Given the description of an element on the screen output the (x, y) to click on. 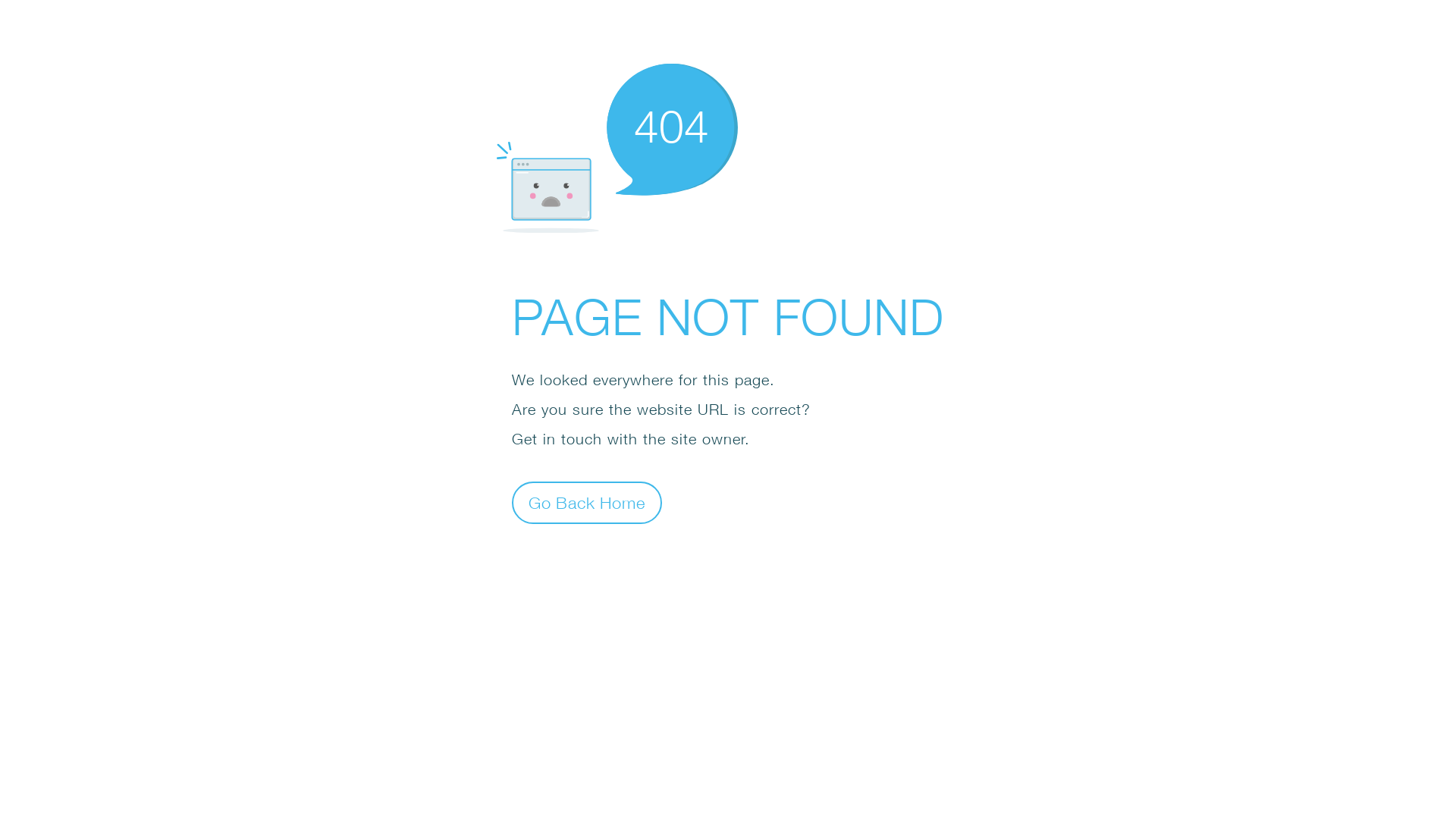
Go Back Home Element type: text (586, 502)
